Given the description of an element on the screen output the (x, y) to click on. 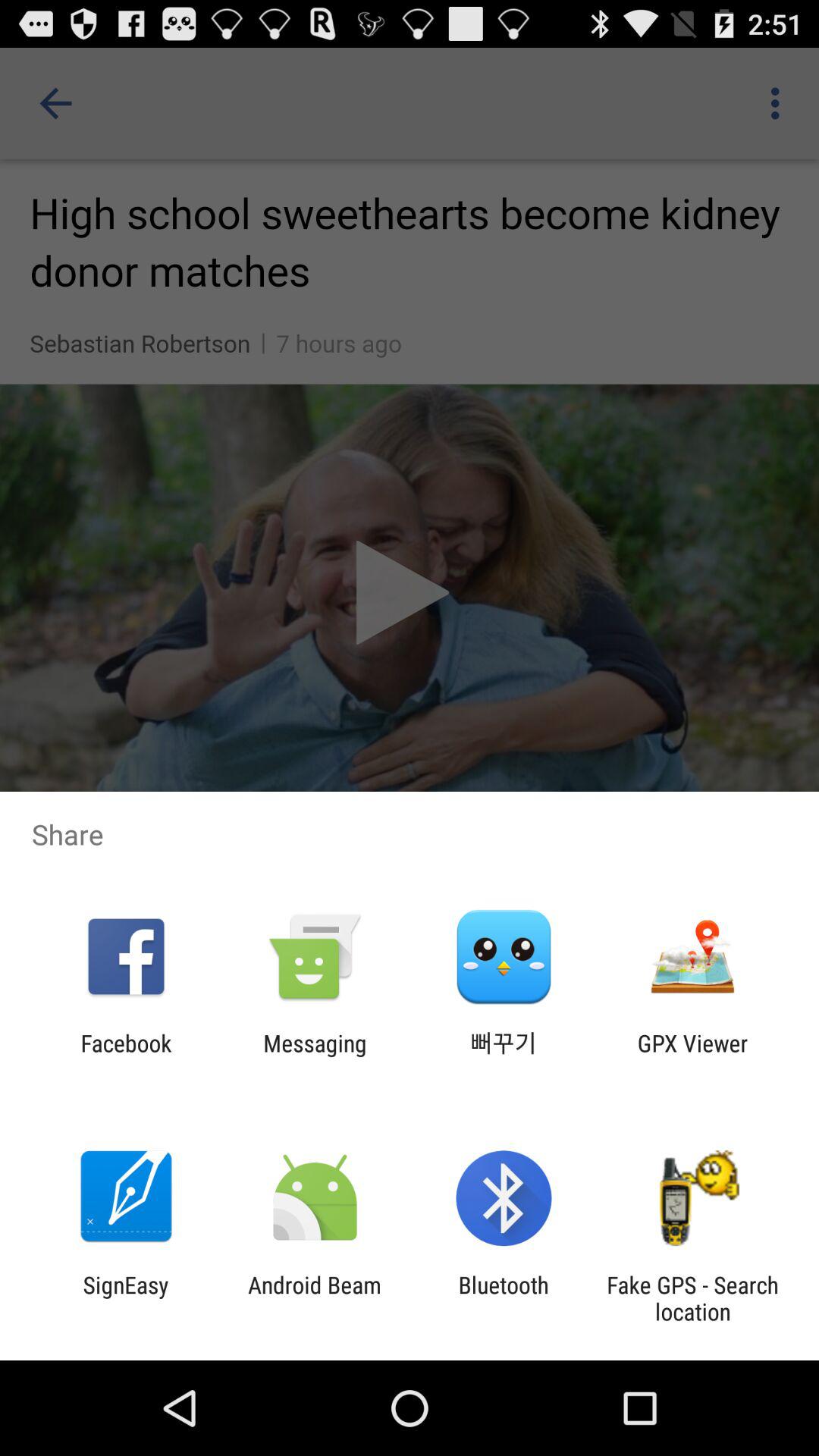
turn off the app next to the messaging app (503, 1056)
